Given the description of an element on the screen output the (x, y) to click on. 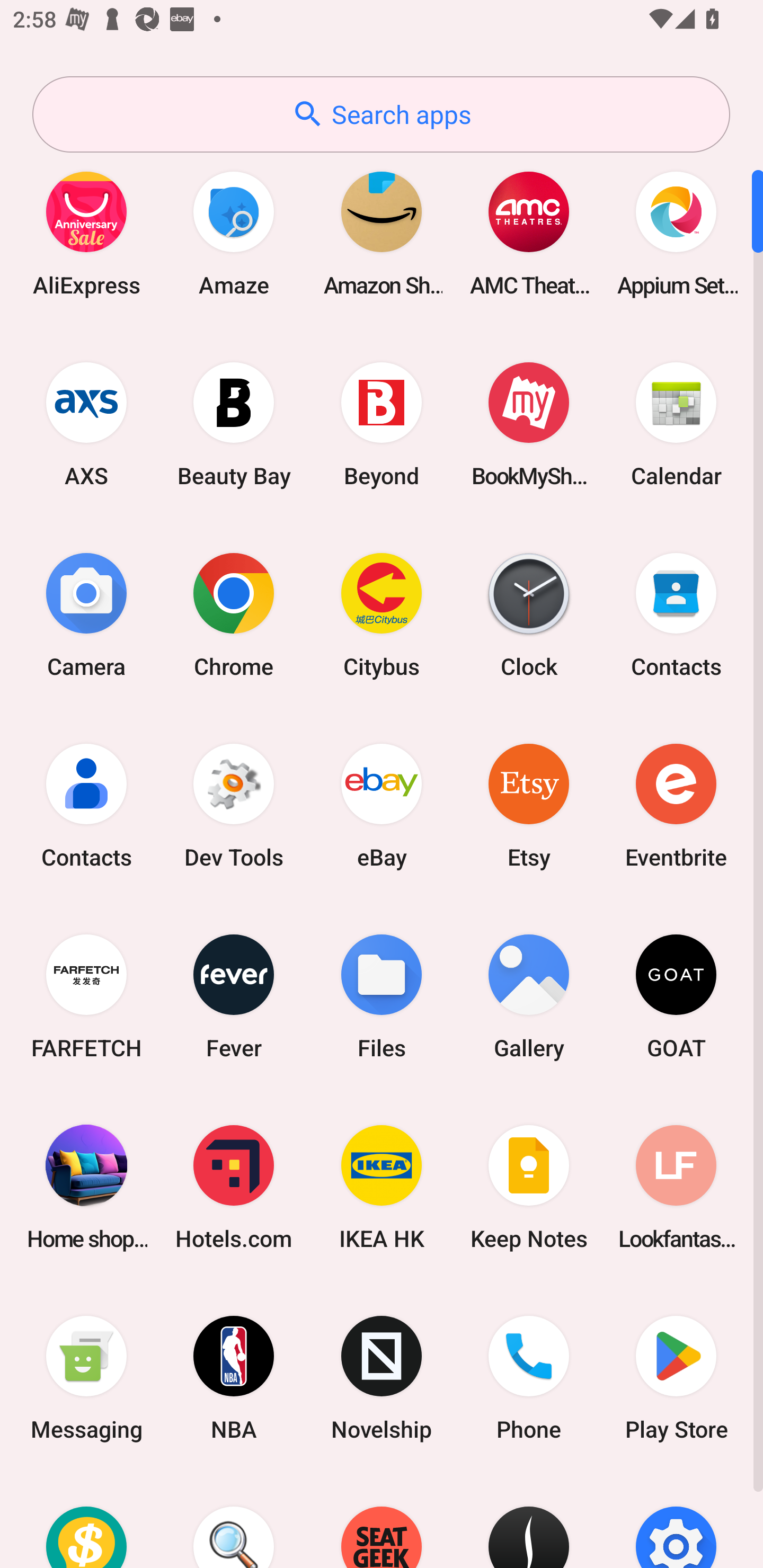
  Search apps (381, 114)
AliExpress (86, 233)
Amaze (233, 233)
Amazon Shopping (381, 233)
AMC Theatres (528, 233)
Appium Settings (676, 233)
AXS (86, 424)
Beauty Bay (233, 424)
Beyond (381, 424)
BookMyShow (528, 424)
Calendar (676, 424)
Camera (86, 614)
Chrome (233, 614)
Citybus (381, 614)
Clock (528, 614)
Contacts (676, 614)
Contacts (86, 805)
Dev Tools (233, 805)
eBay (381, 805)
Etsy (528, 805)
Eventbrite (676, 805)
FARFETCH (86, 996)
Fever (233, 996)
Files (381, 996)
Gallery (528, 996)
GOAT (676, 996)
Home shopping (86, 1186)
Hotels.com (233, 1186)
IKEA HK (381, 1186)
Keep Notes (528, 1186)
Lookfantastic (676, 1186)
Messaging (86, 1377)
NBA (233, 1377)
Novelship (381, 1377)
Phone (528, 1377)
Play Store (676, 1377)
